Given the description of an element on the screen output the (x, y) to click on. 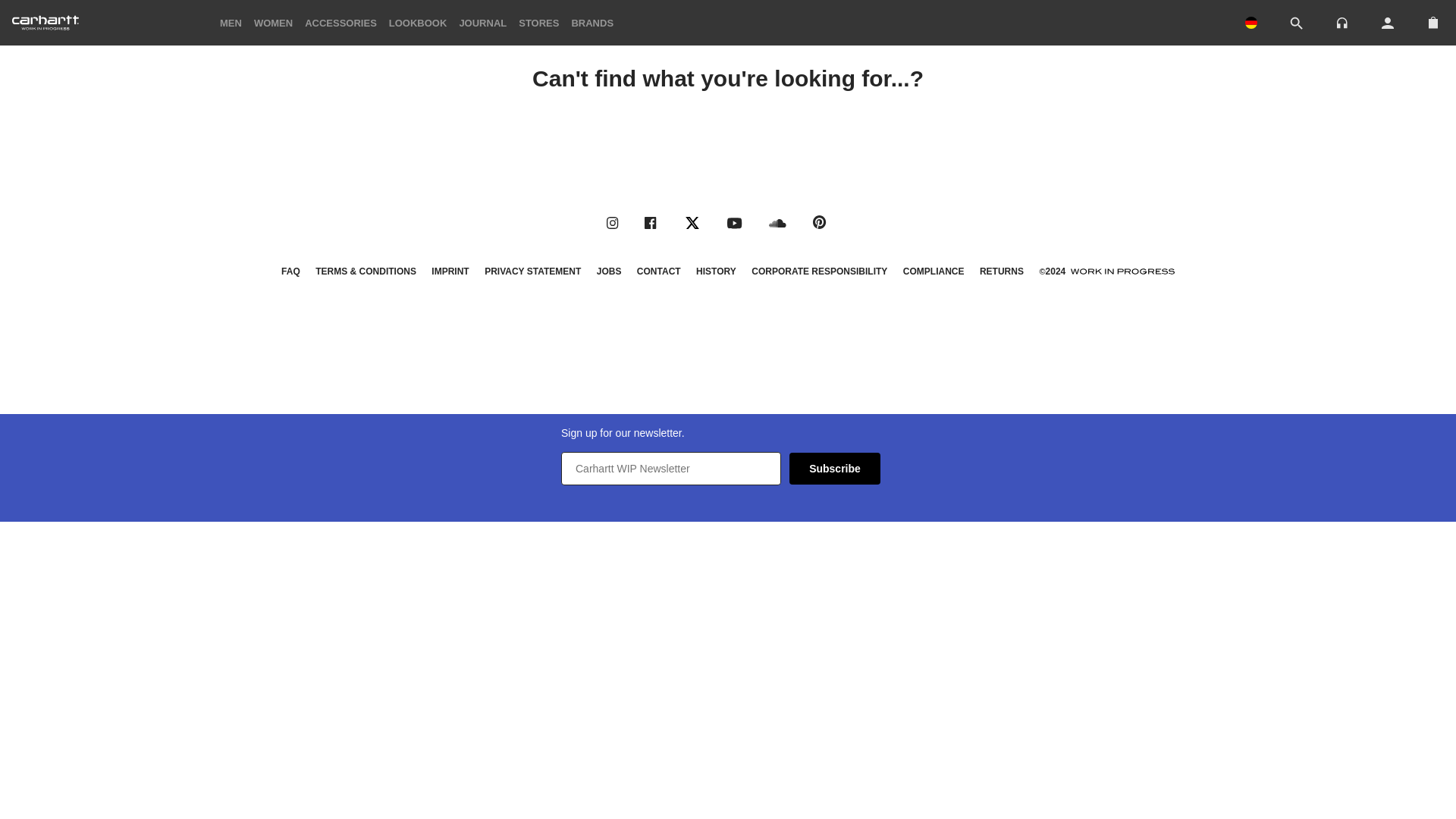
Social-Twitter (691, 223)
Social-Soundcloud Created with Sketch. (777, 223)
Radio (1342, 21)
Subscribe (834, 468)
Login (1387, 22)
Search (1296, 23)
Select country (1251, 22)
MEN (230, 21)
Social-facebook Created with Sketch. (650, 223)
Radio (1342, 22)
